Given the description of an element on the screen output the (x, y) to click on. 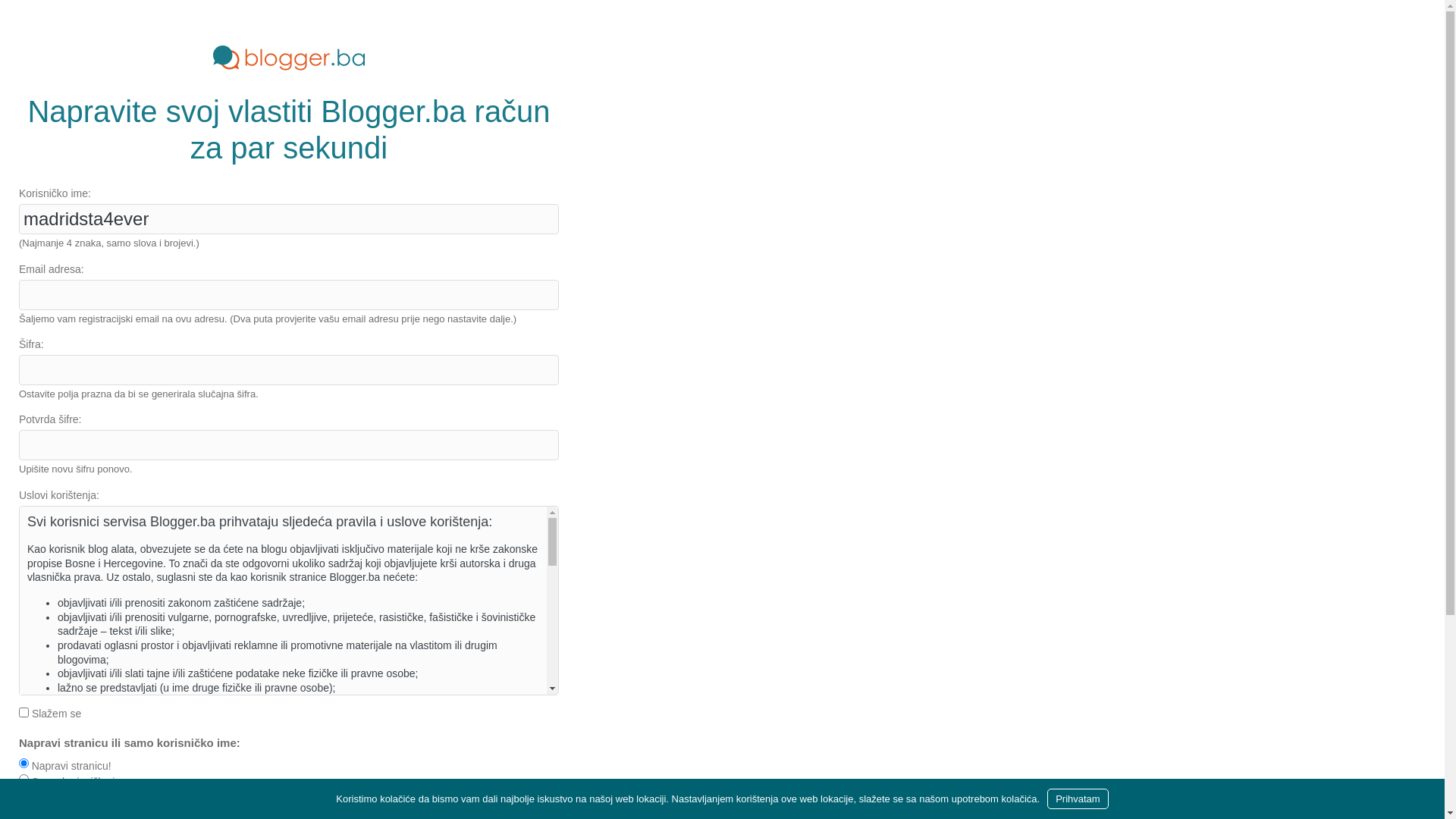
Prihvatam Element type: text (1077, 798)
